Given the description of an element on the screen output the (x, y) to click on. 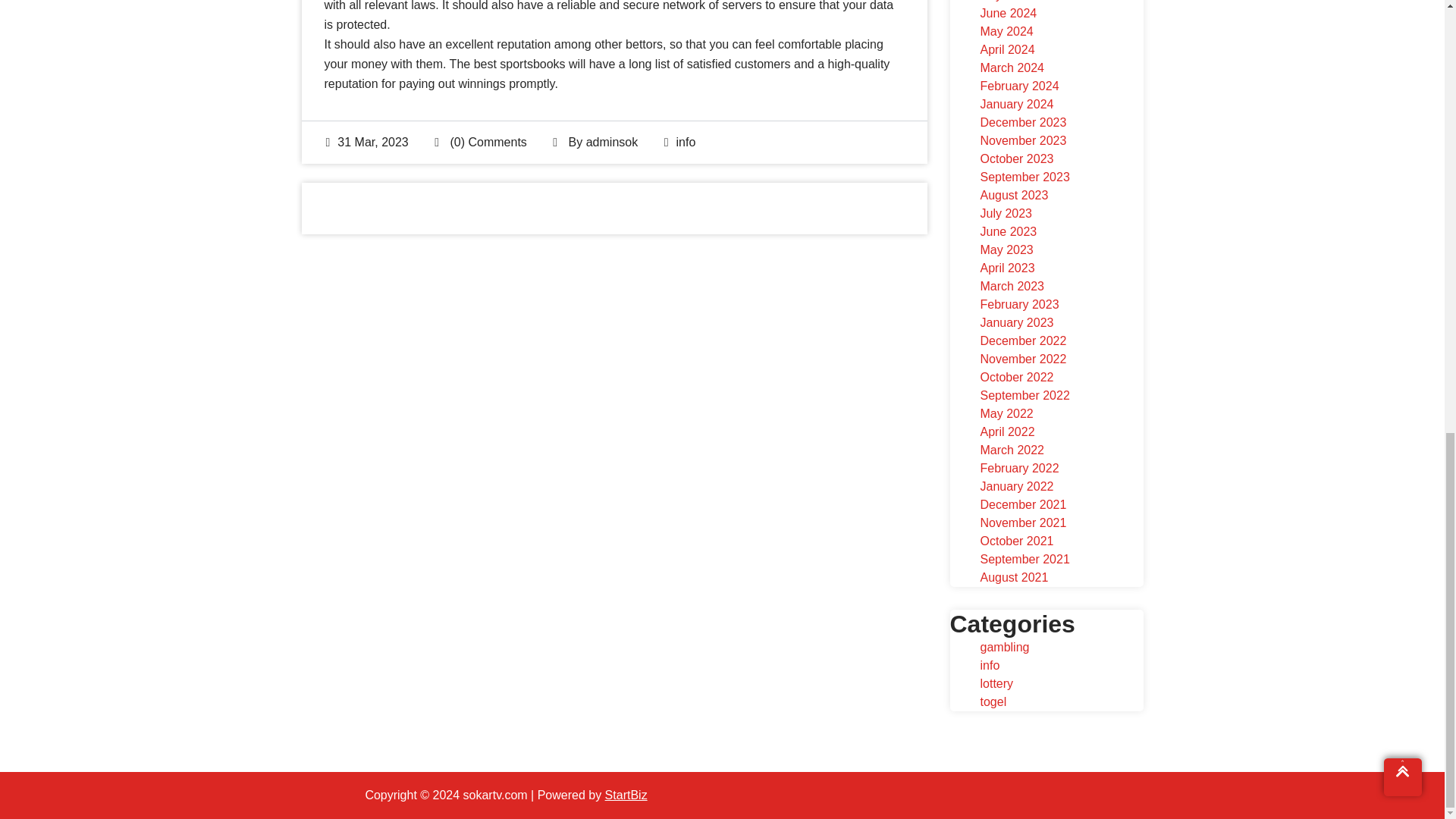
September 2023 (1023, 176)
March 2023 (1011, 286)
July 2023 (1005, 213)
June 2023 (1007, 231)
June 2024 (1007, 12)
April 2023 (1006, 267)
February 2023 (1018, 304)
March 2024 (1011, 67)
January 2023 (1015, 322)
May 2024 (1005, 31)
October 2023 (1015, 158)
info (685, 141)
February 2024 (1018, 85)
December 2022 (1022, 340)
August 2023 (1013, 195)
